Given the description of an element on the screen output the (x, y) to click on. 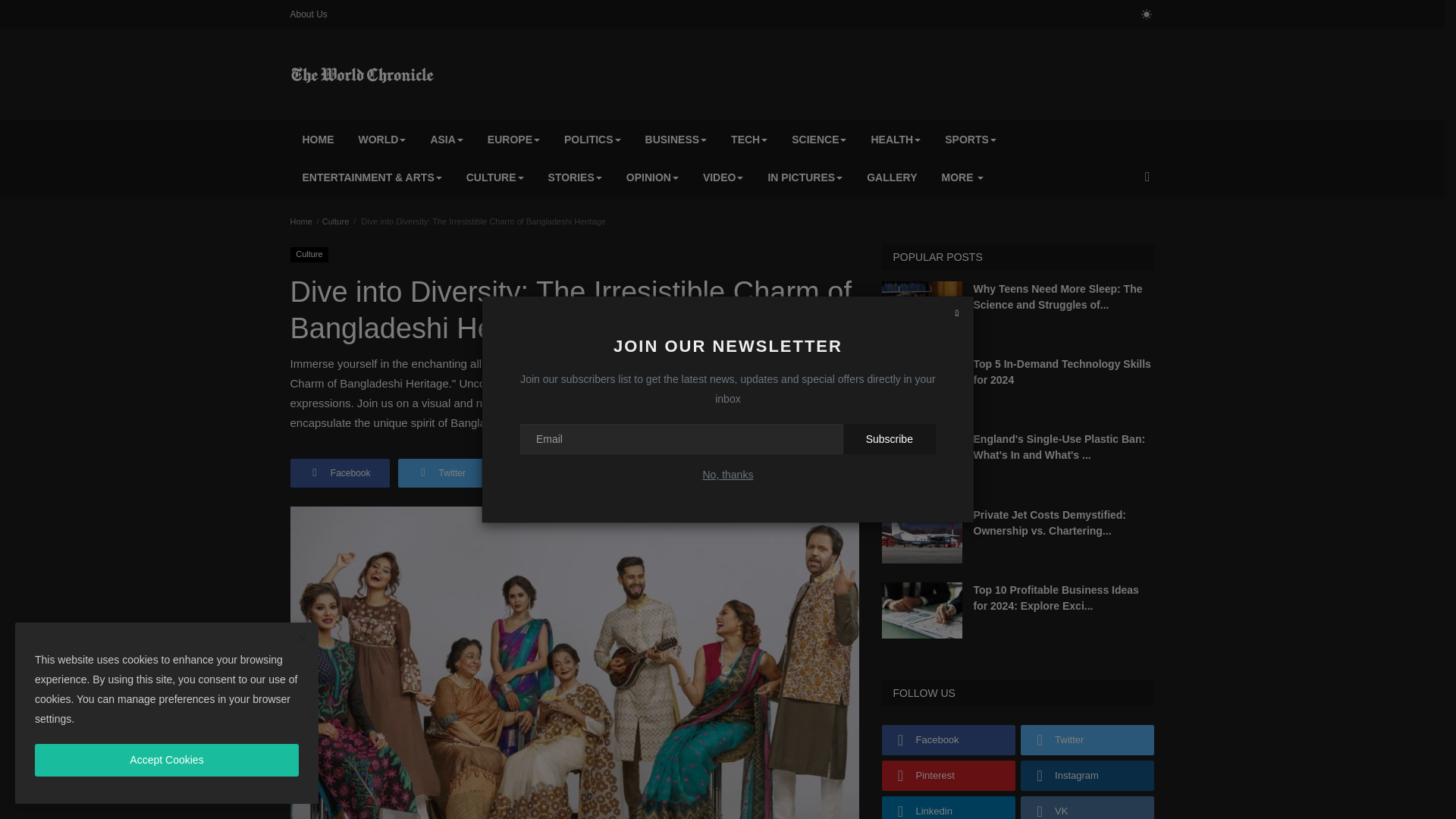
SCIENCE (818, 139)
HOME (317, 139)
POLITICS (592, 139)
ASIA (445, 139)
HEALTH (896, 139)
TECH (748, 139)
EUROPE (513, 139)
WORLD (381, 139)
BUSINESS (676, 139)
About Us (307, 14)
